Given the description of an element on the screen output the (x, y) to click on. 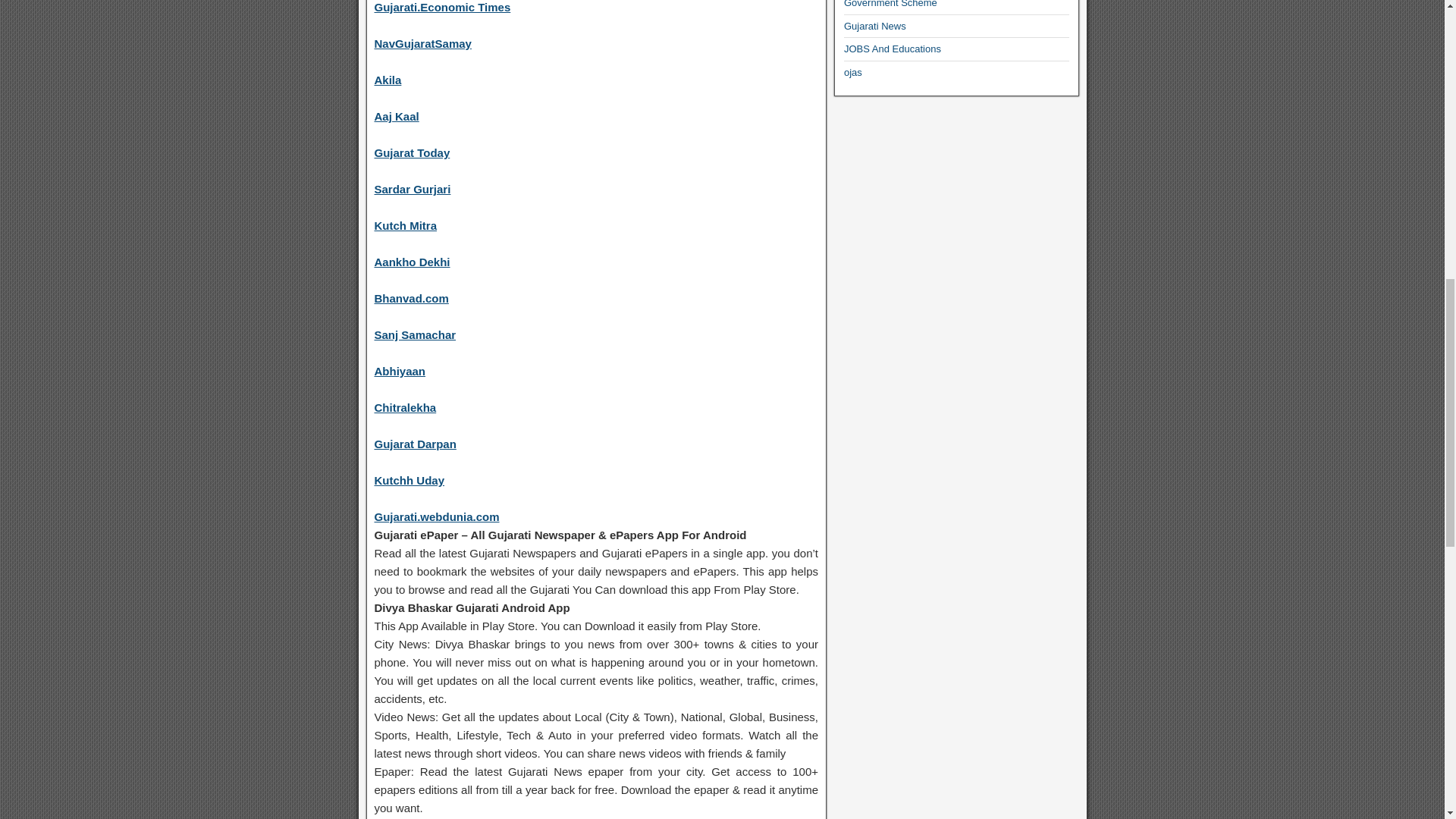
Aaj Kaal (396, 115)
Kutchh Uday (409, 480)
NavGujaratSamay (422, 42)
Sanj Samachar (415, 334)
Kutch Mitra (406, 225)
Sardar Gurjari (412, 188)
Akila (387, 79)
Gujarati.webdunia.com (436, 516)
Chitralekha (405, 407)
Bhanvad.com (411, 297)
